Given the description of an element on the screen output the (x, y) to click on. 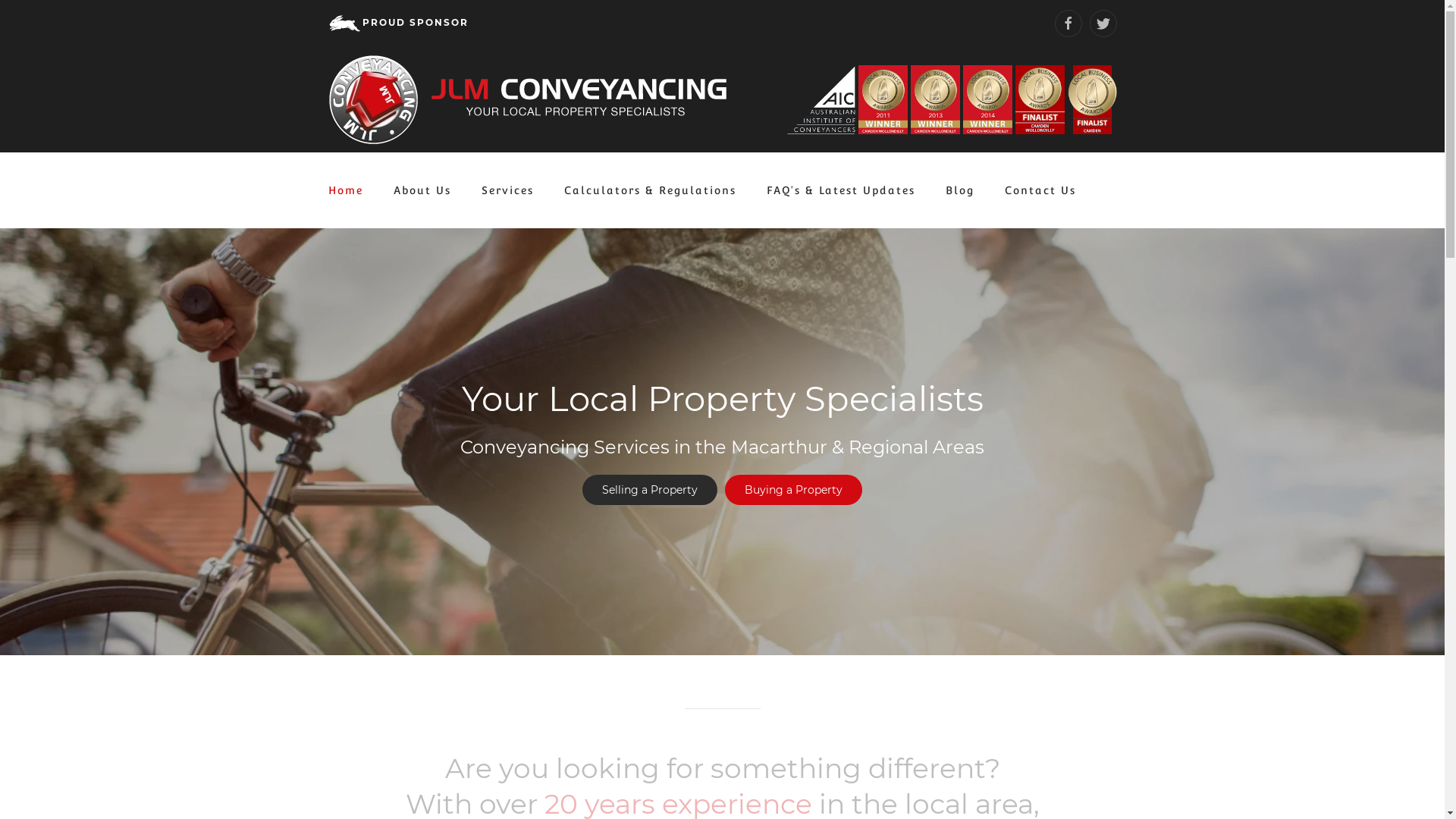
About Us Element type: text (421, 190)
Buying a Property Element type: text (793, 489)
Contact Us Element type: text (1039, 190)
Blog Element type: text (958, 190)
FAQ'S & Latest Updates Element type: text (839, 190)
Services Element type: text (506, 190)
PROUD SPONSOR Element type: text (397, 22)
Home Element type: text (344, 190)
Selling a Property Element type: text (649, 489)
Calculators & Regulations Element type: text (650, 190)
